Given the description of an element on the screen output the (x, y) to click on. 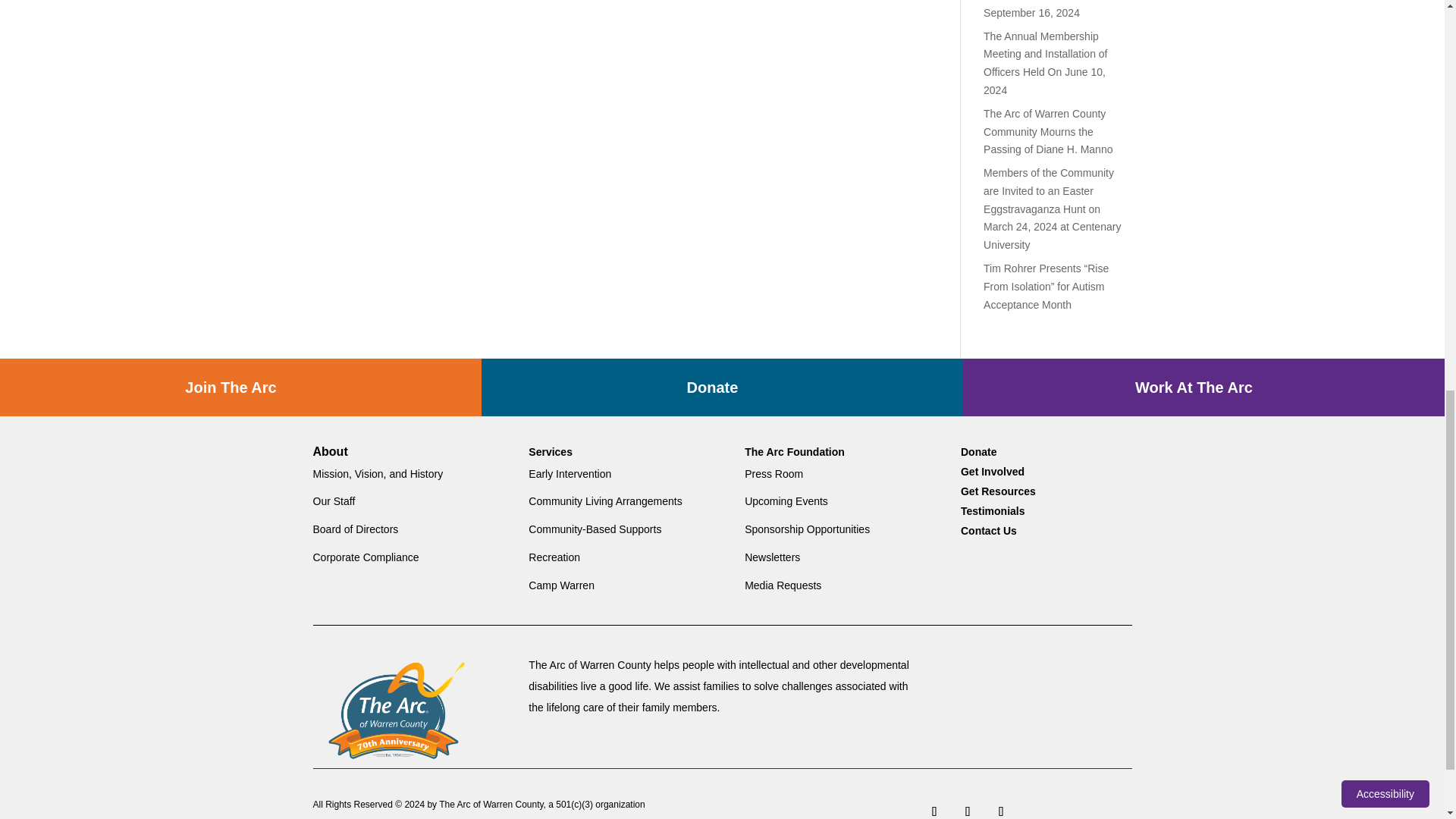
Follow on Facebook (933, 808)
Follow on LinkedIn (1000, 808)
Follow on Instagram (967, 808)
